Given the description of an element on the screen output the (x, y) to click on. 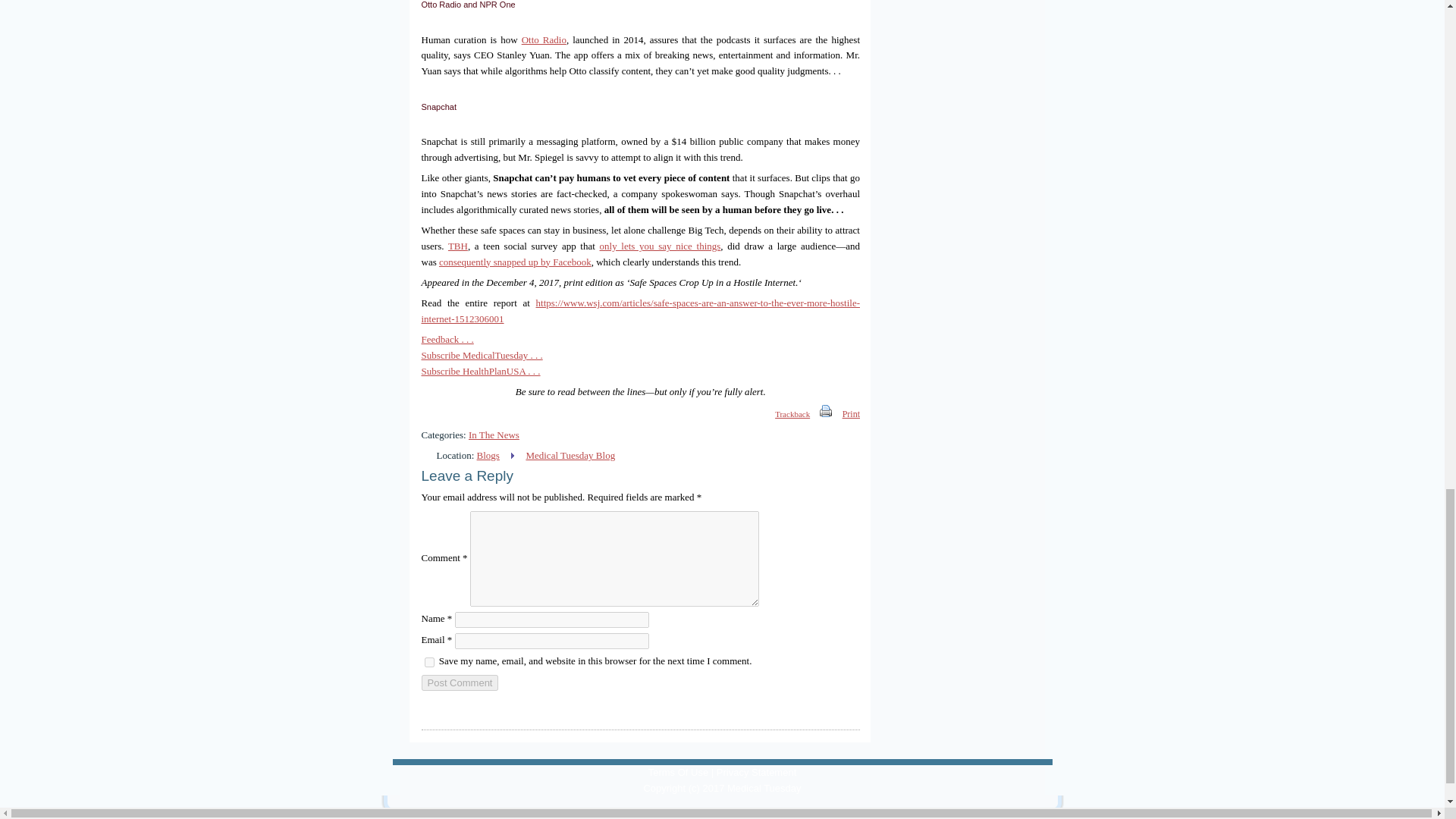
In The News (493, 434)
TBH (457, 245)
Print (826, 413)
Blogs (488, 455)
Trackback (784, 413)
consequently snapped up by Facebook (515, 261)
Subscribe HealthPlanUSA . . . (481, 370)
only lets you say nice things (659, 245)
Feedback . . . (448, 338)
Print (851, 413)
